Given the description of an element on the screen output the (x, y) to click on. 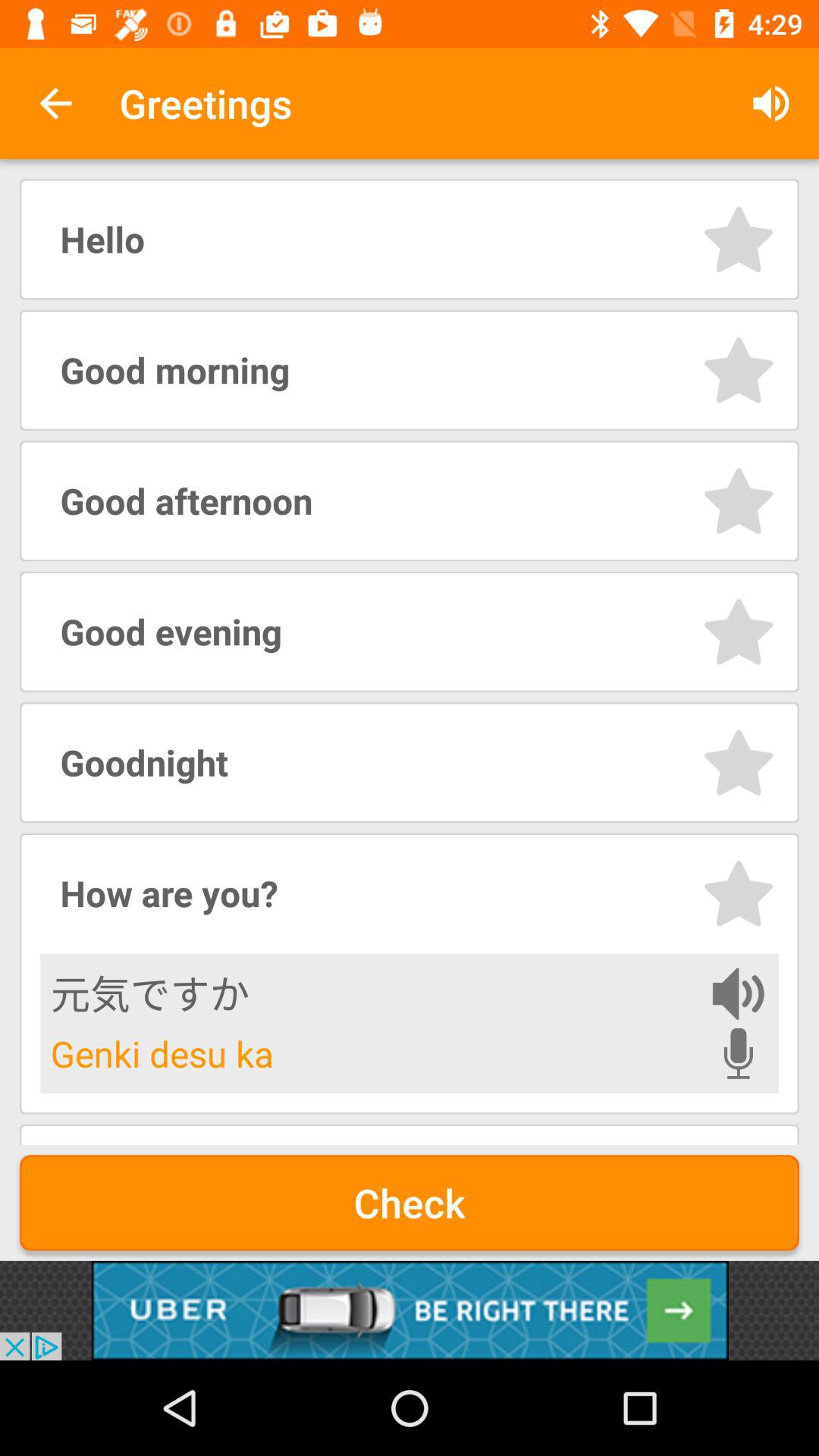
advertisement link (409, 1310)
